Given the description of an element on the screen output the (x, y) to click on. 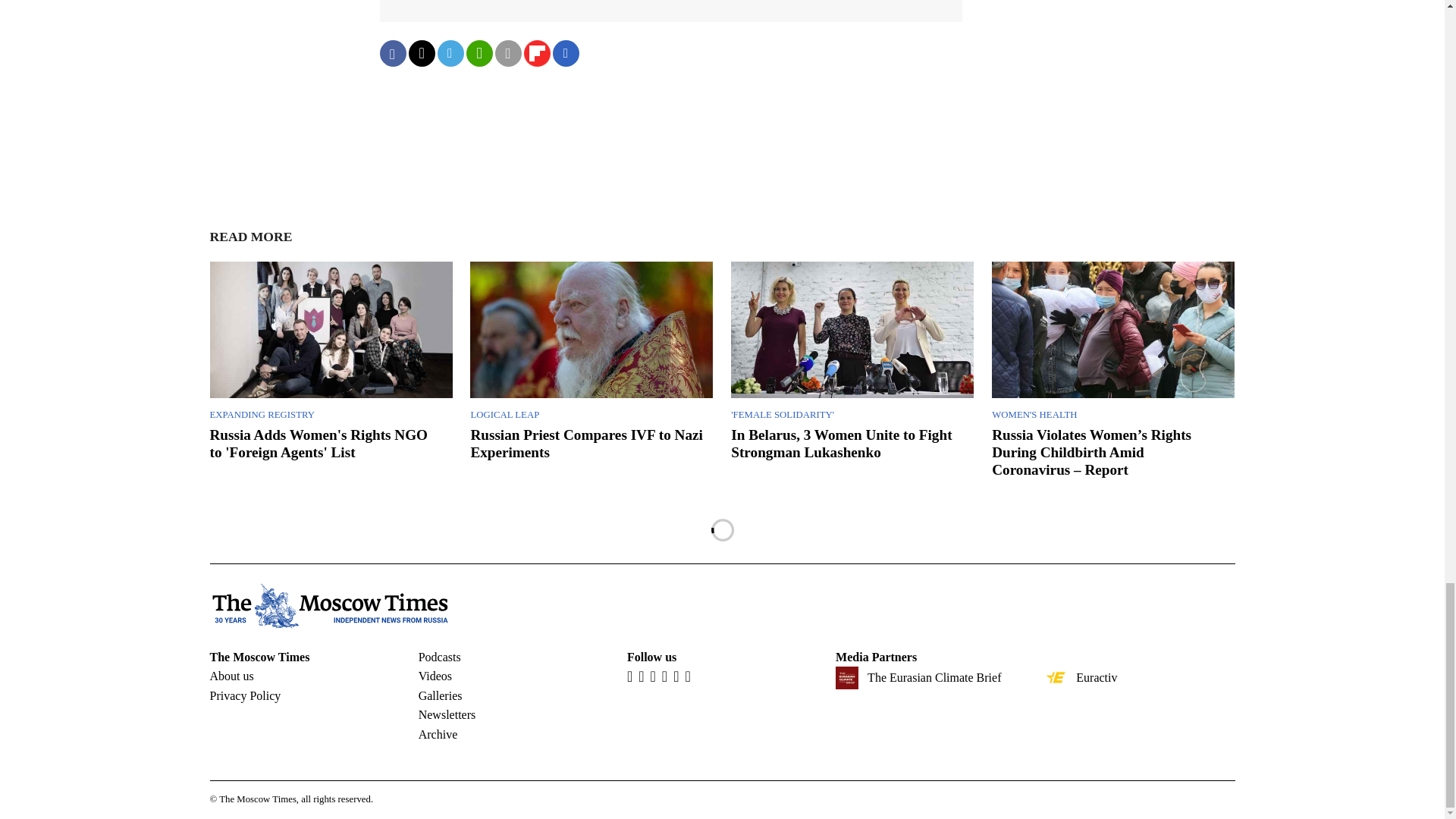
Share on Twitter (420, 53)
Share on Telegram (449, 53)
Share on Flipboard (536, 53)
Share on Facebook (392, 53)
